Given the description of an element on the screen output the (x, y) to click on. 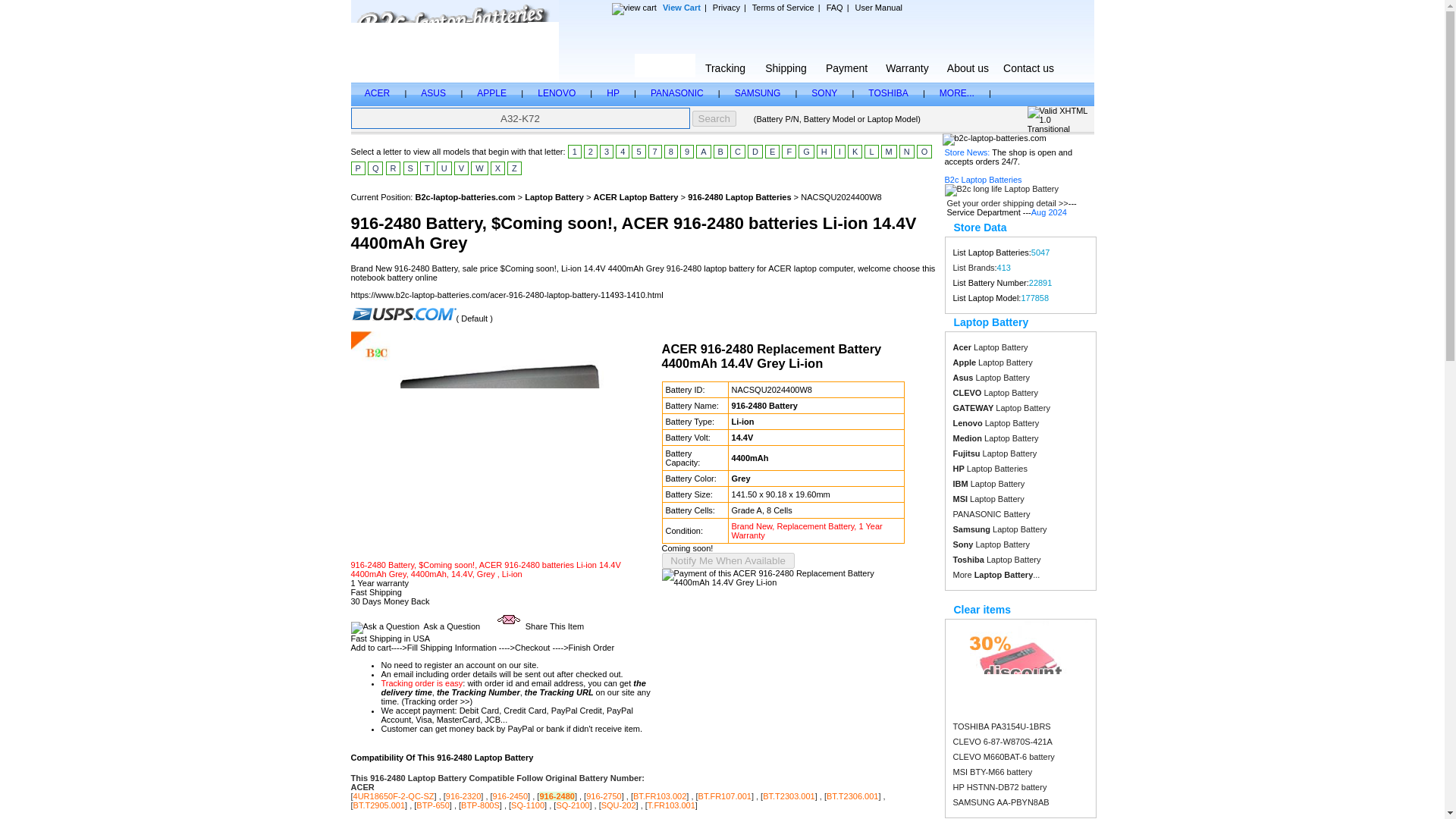
Laptop Batetry For HP (613, 92)
4 (621, 151)
Laptop Batetry For SONY (823, 92)
Laptop Batetry For ACER (379, 92)
Warranty And Return Policy (906, 65)
Payment (845, 65)
About us (967, 65)
Search (714, 118)
Laptop Batetry For PANASONIC (676, 92)
A (702, 151)
Payment (845, 65)
1 (573, 151)
APPLE (492, 92)
SONY (823, 92)
ACER (379, 92)
